Given the description of an element on the screen output the (x, y) to click on. 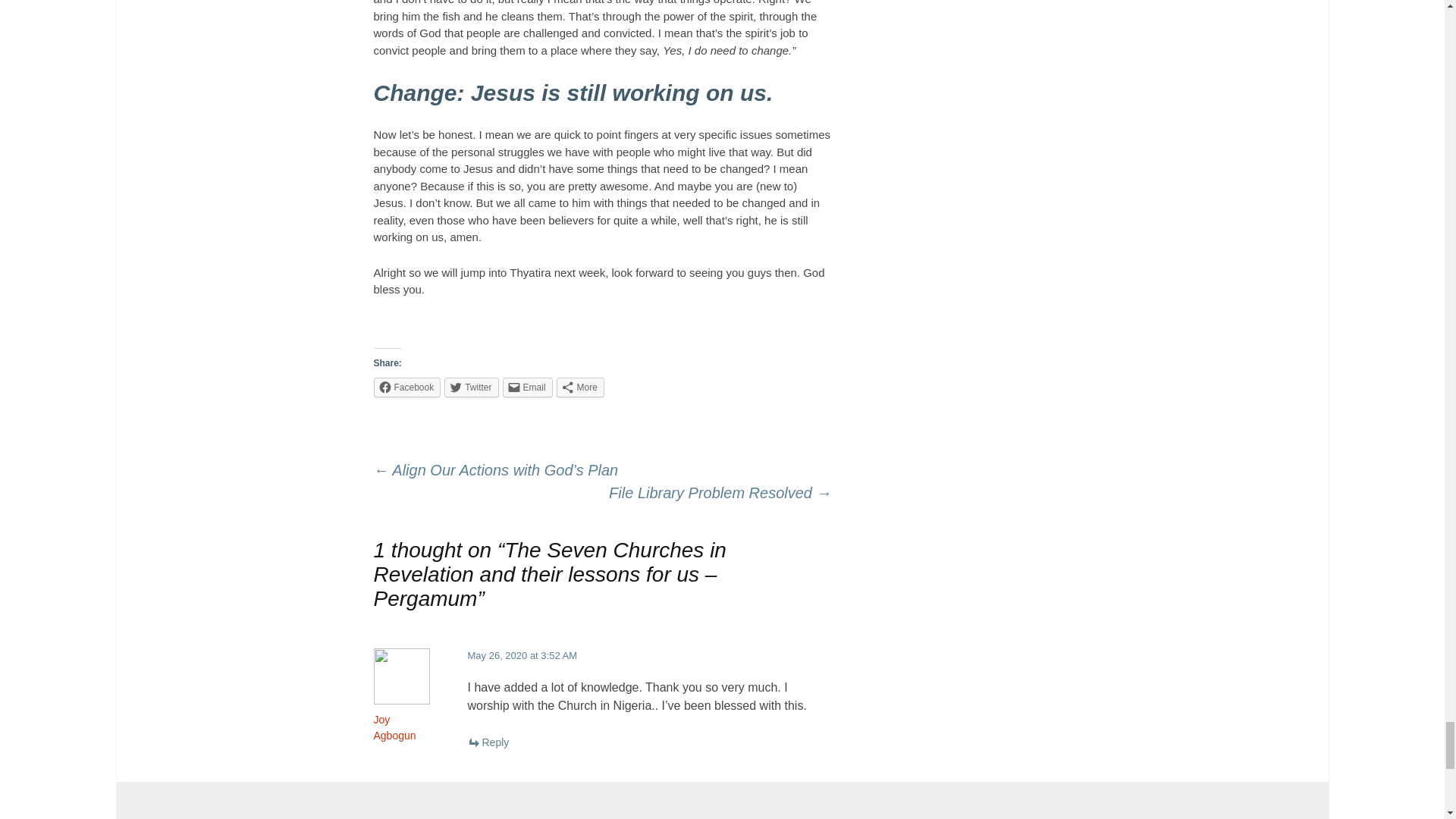
Twitter (470, 387)
May 26, 2020 at 3:52 AM (521, 655)
Click to share on Twitter (470, 387)
Click to share on Facebook (406, 387)
Facebook (406, 387)
More (580, 387)
Click to email this to a friend (527, 387)
Email (527, 387)
